Given the description of an element on the screen output the (x, y) to click on. 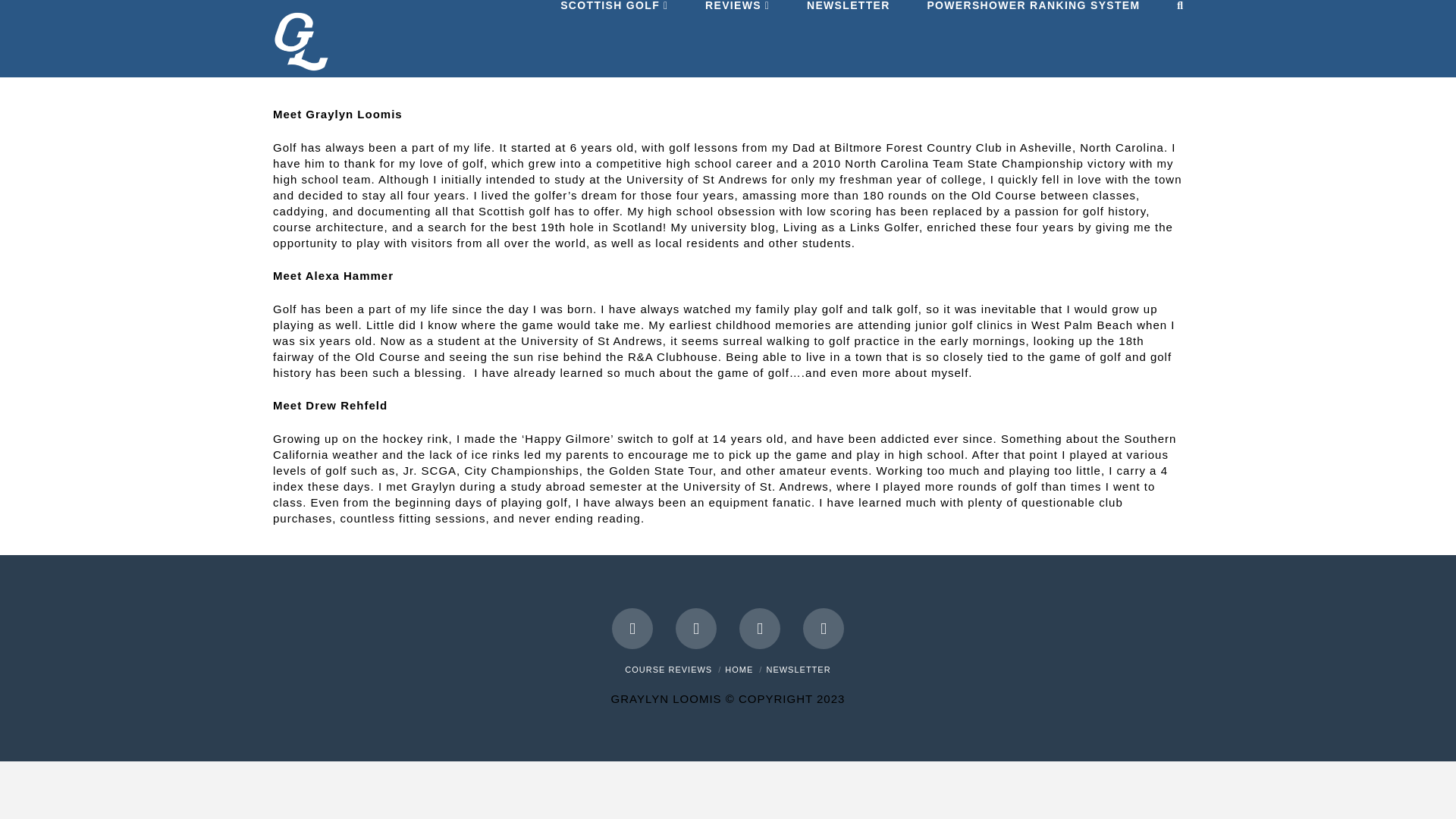
Facebook (631, 628)
POWERSHOWER RANKING SYSTEM (1032, 13)
NEWSLETTER (797, 669)
Instagram (823, 628)
REVIEWS (736, 13)
HOME (738, 669)
YouTube (759, 628)
NEWSLETTER (847, 13)
SCOTTISH GOLF (613, 13)
COURSE REVIEWS (667, 669)
